Given the description of an element on the screen output the (x, y) to click on. 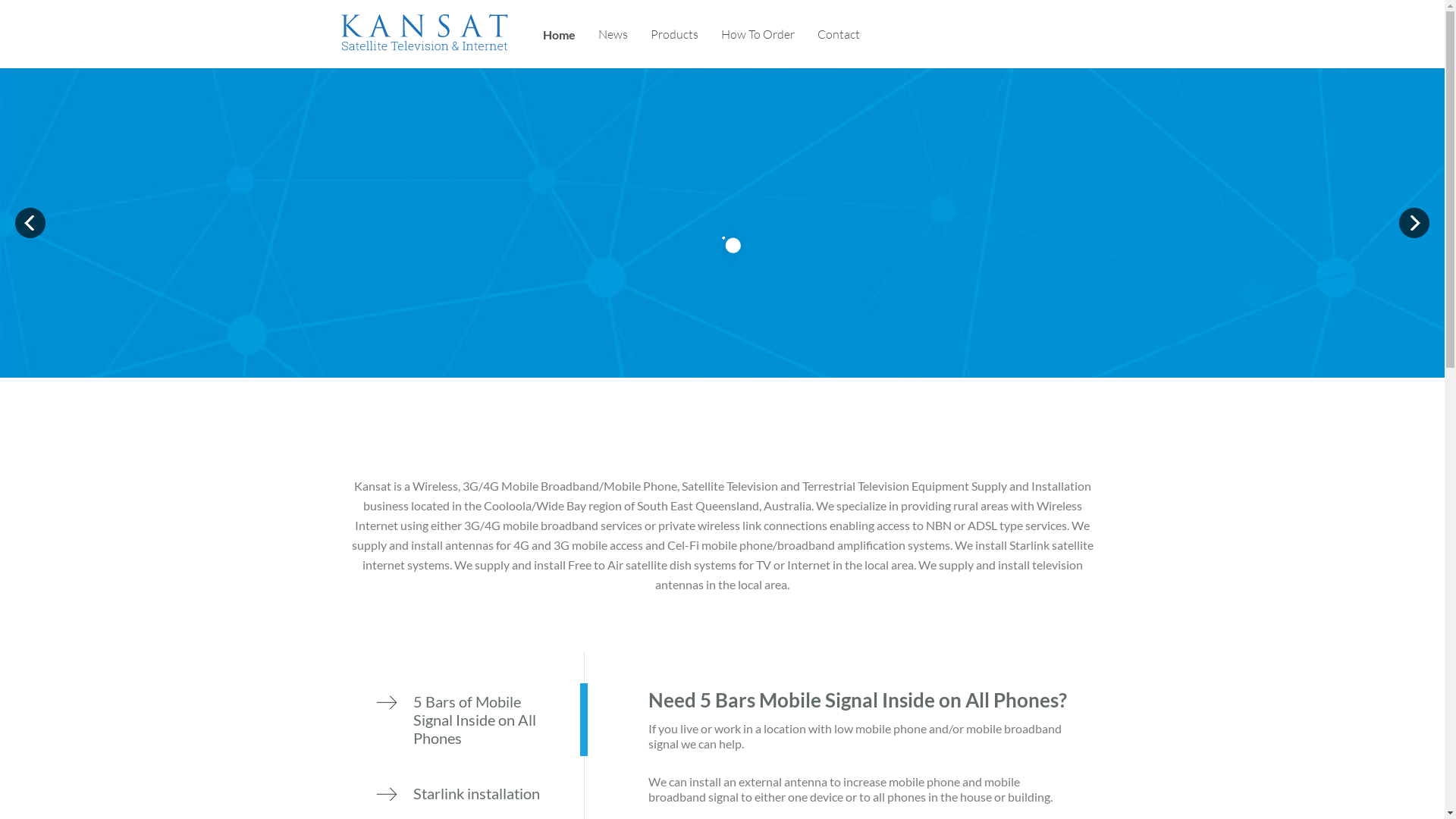
5 Bars of Mobile Signal Inside on All Phones Element type: text (485, 719)
Contact Element type: text (838, 34)
How To Order Element type: text (757, 34)
Products Element type: text (674, 34)
News Element type: text (612, 34)
Kansat Element type: hover (424, 45)
Home Element type: text (558, 34)
Starlink installation Element type: text (485, 793)
